Given the description of an element on the screen output the (x, y) to click on. 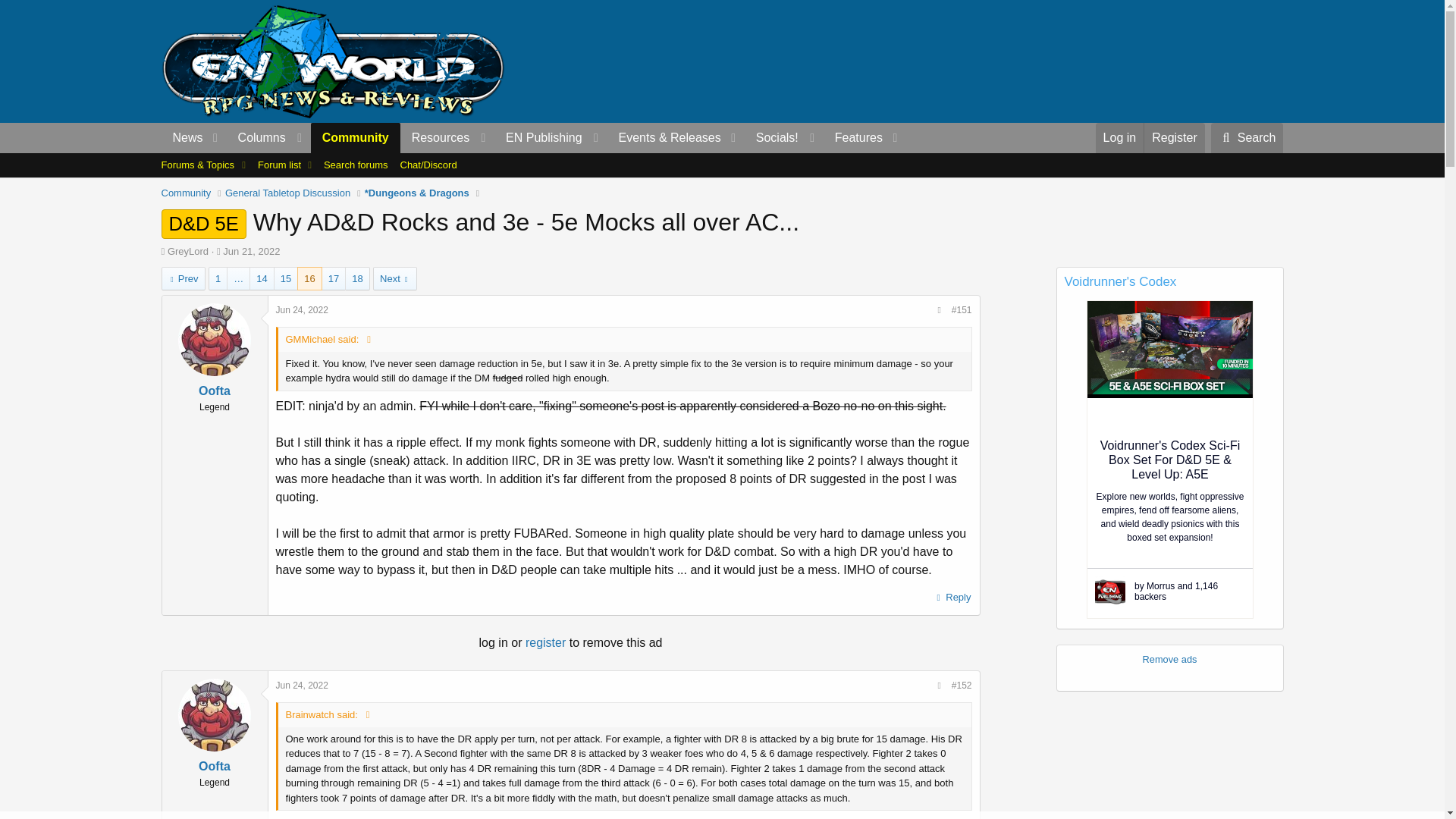
News (181, 137)
Search (1247, 137)
Columns (269, 137)
Jun 21, 2022 at 5:53 AM (250, 251)
Jun 24, 2022 at 5:30 PM (302, 685)
Community (355, 137)
Jun 24, 2022 at 5:23 PM (302, 309)
Reply, quoting this message (952, 597)
